Given the description of an element on the screen output the (x, y) to click on. 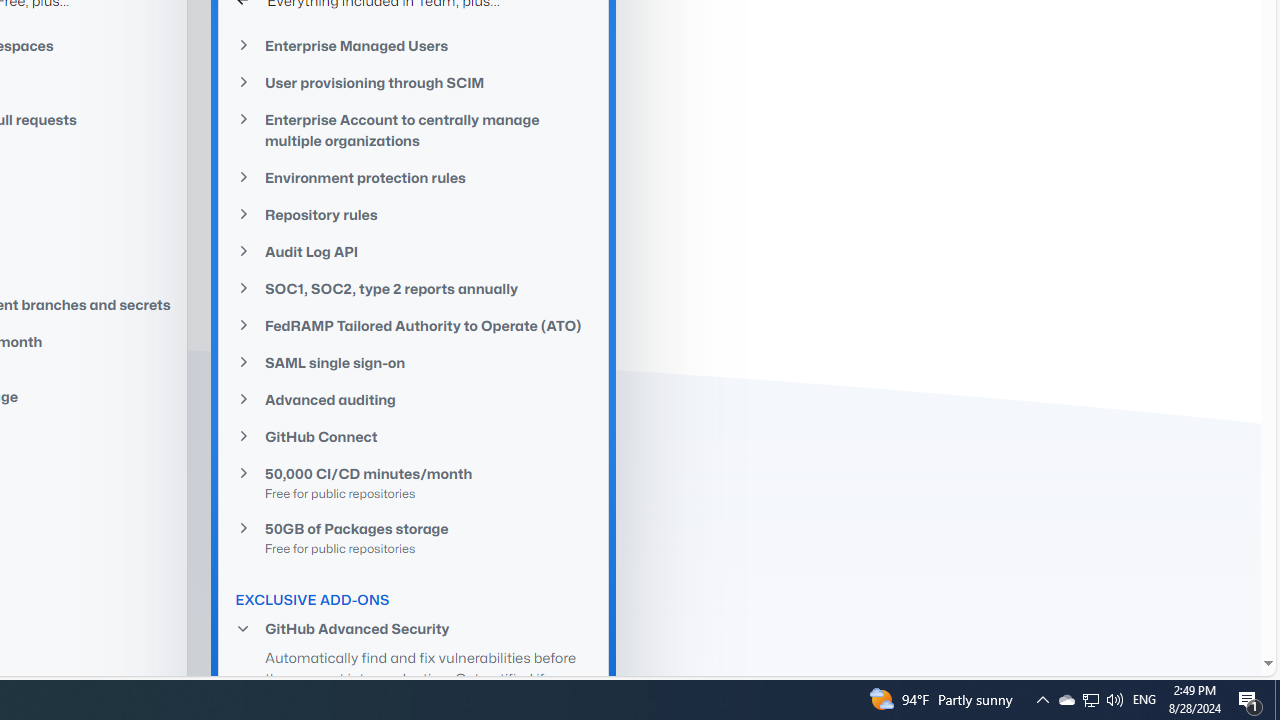
GitHub Connect (413, 435)
SOC1, SOC2, type 2 reports annually (413, 288)
GitHub Connect (413, 436)
50GB of Packages storageFree for public repositories (413, 537)
Enterprise Managed Users (413, 44)
Environment protection rules (413, 177)
User provisioning through SCIM (413, 82)
Audit Log API (413, 250)
User provisioning through SCIM (413, 83)
Advanced auditing (413, 399)
FedRAMP Tailored Authority to Operate (ATO) (413, 325)
50GB of Packages storage Free for public repositories (413, 537)
Repository rules (413, 214)
GitHub Advanced Security (413, 628)
